Given the description of an element on the screen output the (x, y) to click on. 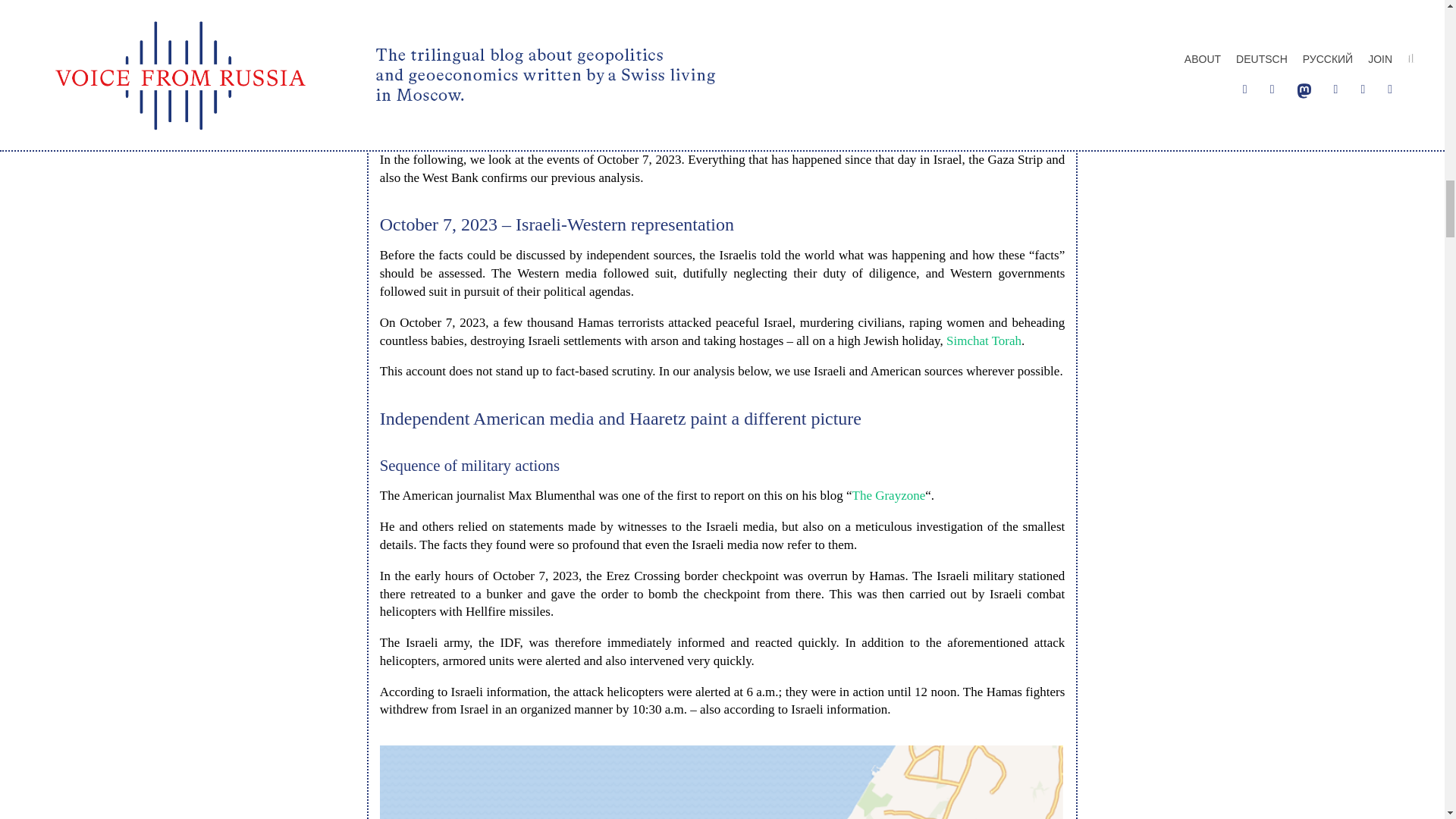
The Grayzone (888, 495)
Simchat Torah (984, 340)
